Given the description of an element on the screen output the (x, y) to click on. 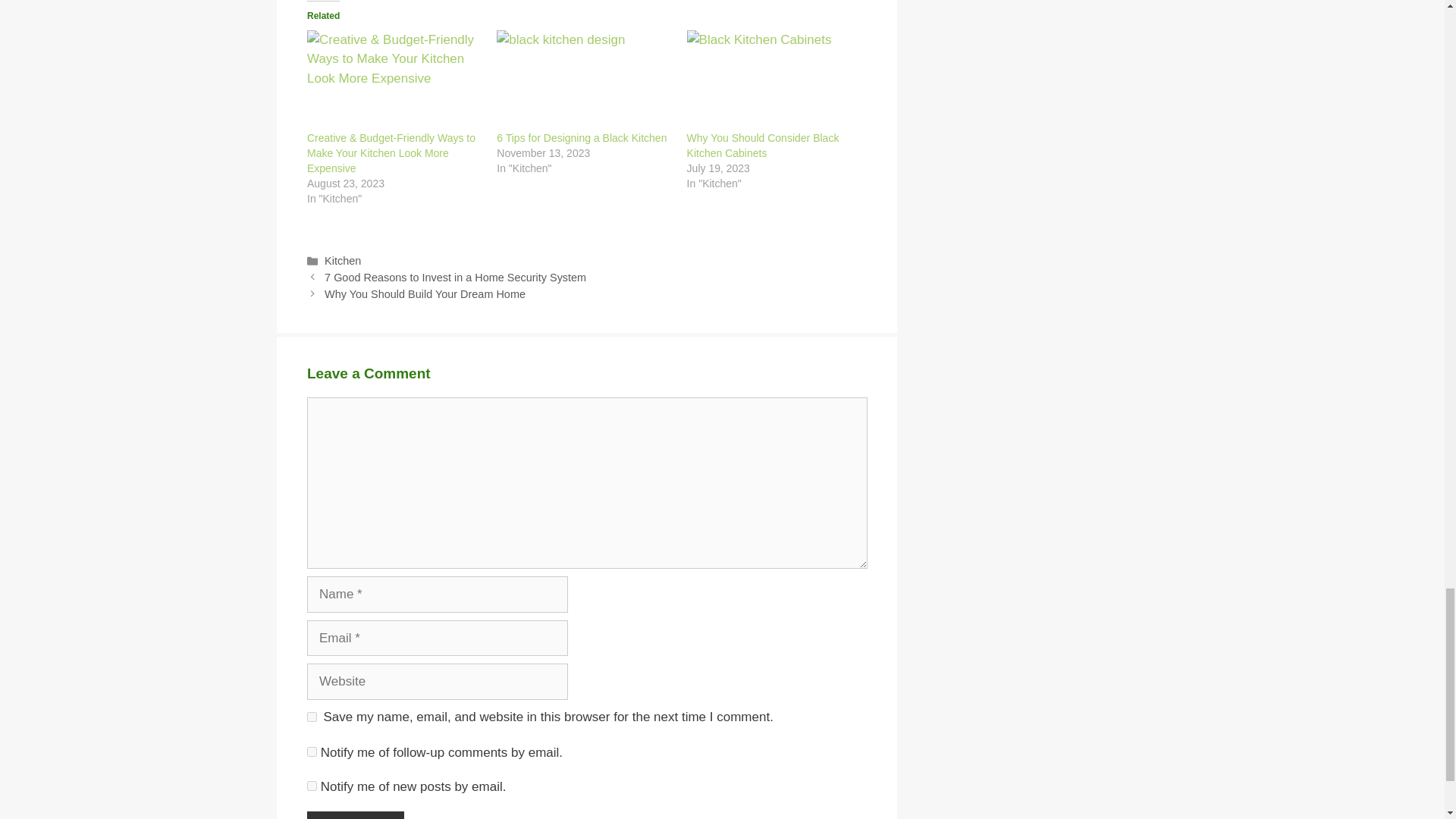
Why You Should Consider Black Kitchen Cabinets (763, 144)
6 Tips for Designing a Black Kitchen (583, 80)
Kitchen (342, 260)
Post Comment (355, 815)
yes (312, 716)
6 Tips for Designing a Black Kitchen (581, 137)
subscribe (312, 751)
7 Good Reasons to Invest in a Home Security System (455, 277)
Why You Should Consider Black Kitchen Cabinets (763, 144)
Why You Should Build Your Dream Home (424, 294)
subscribe (312, 786)
Why You Should Consider Black Kitchen Cabinets (774, 80)
6 Tips for Designing a Black Kitchen (581, 137)
Post Comment (355, 815)
